Given the description of an element on the screen output the (x, y) to click on. 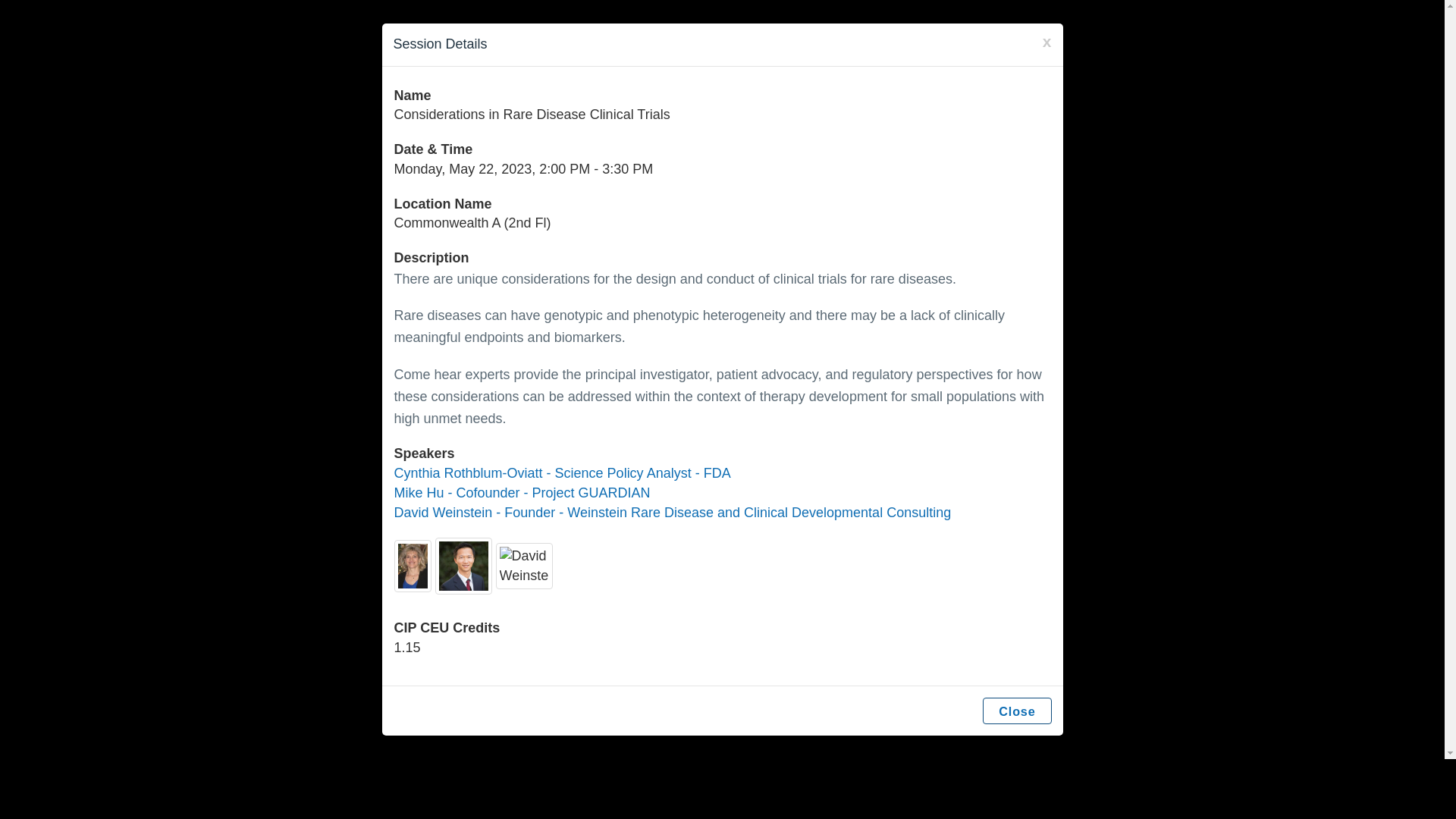
Close (1016, 710)
Speaker Details (562, 473)
Cynthia Rothblum-Oviatt - Science Policy Analyst - FDA (562, 473)
Speaker Details (522, 492)
Speaker Details (673, 512)
Mike Hu - Cofounder - Project GUARDIAN (522, 492)
